Given the description of an element on the screen output the (x, y) to click on. 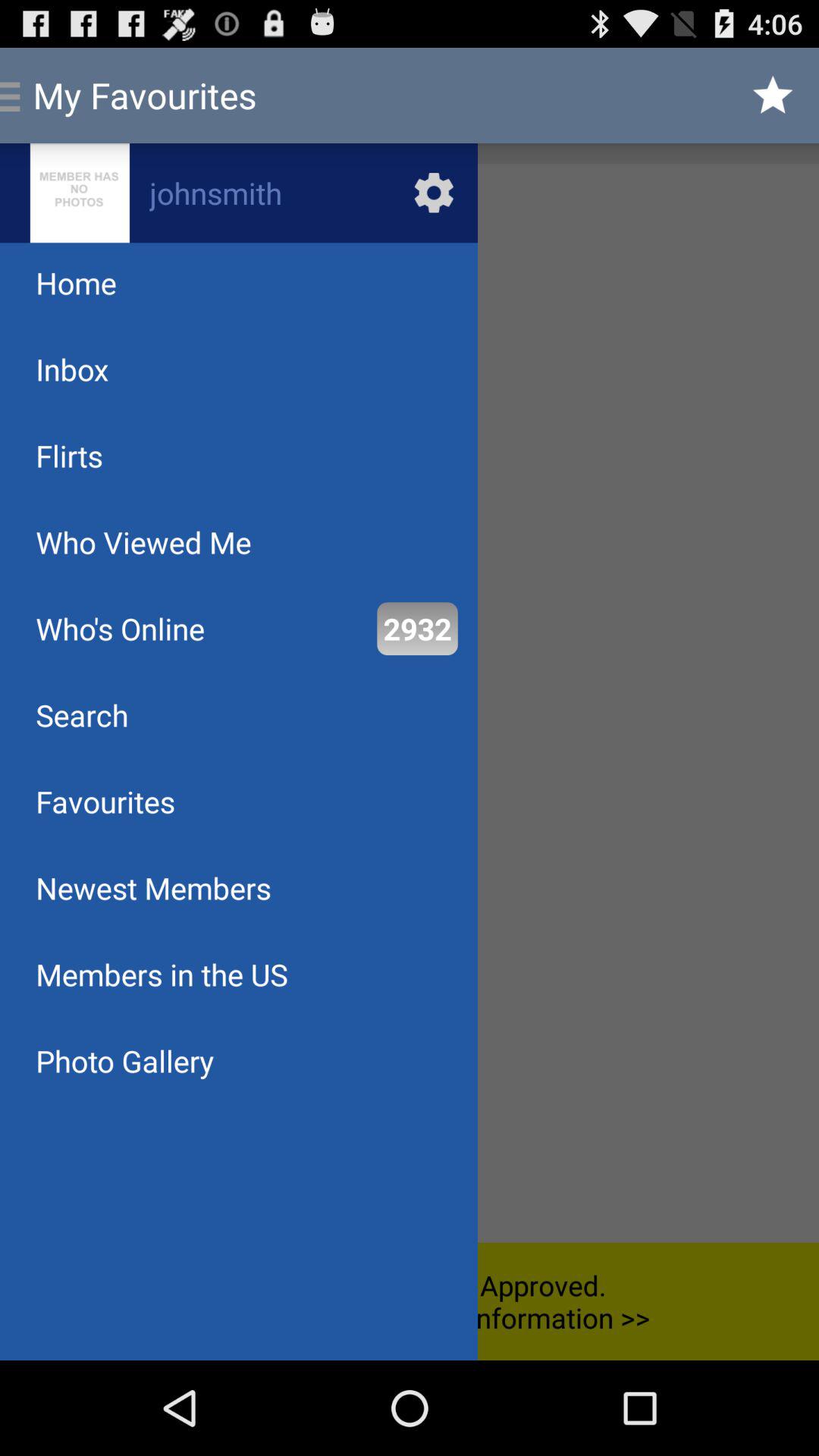
profile photo and profile name for the currently logged in user (238, 192)
